Given the description of an element on the screen output the (x, y) to click on. 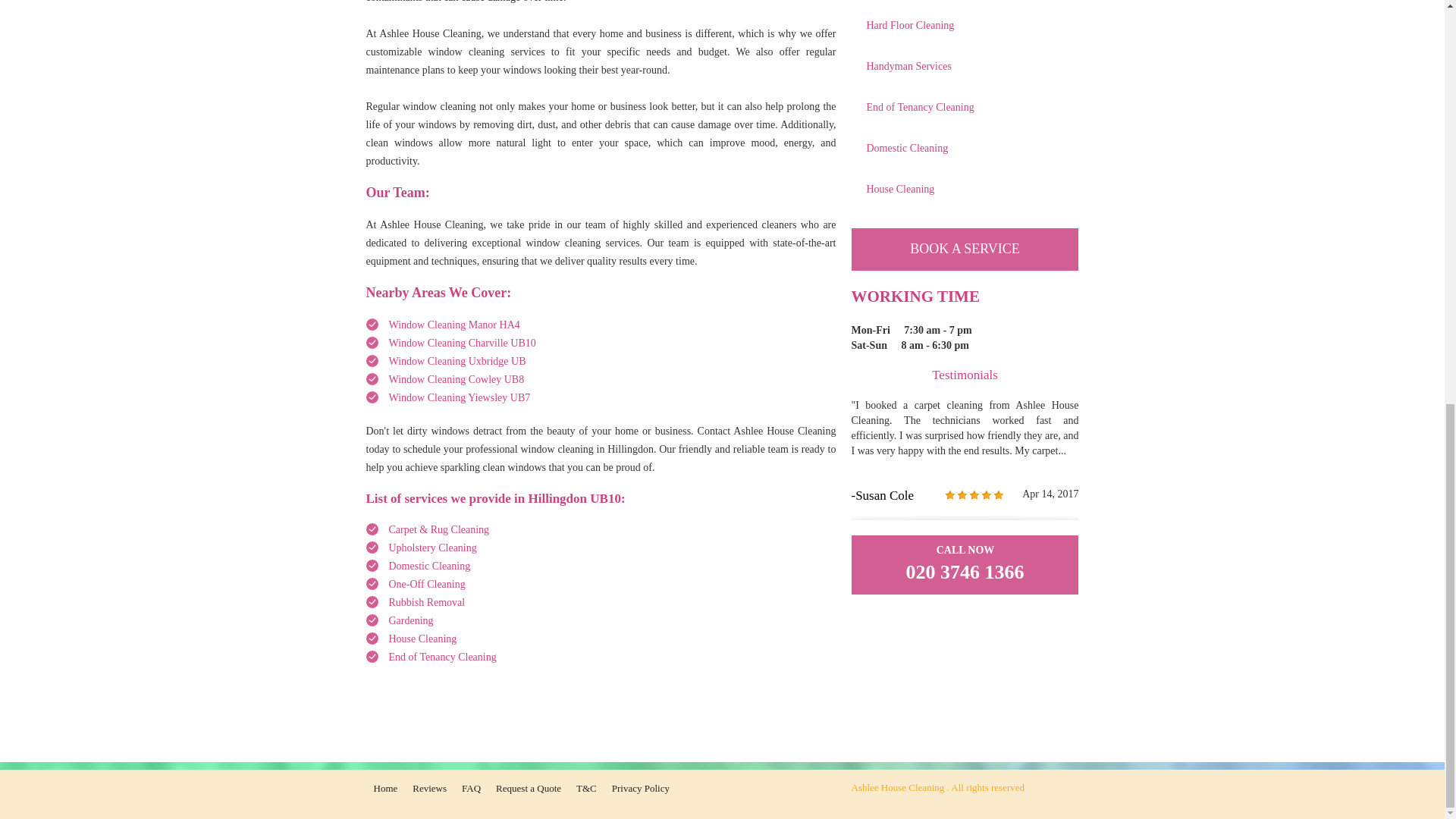
Upholstery Cleaning (432, 547)
End of Tenancy Cleaning (442, 656)
One-Off Cleaning (426, 583)
Window Cleaning Manor HA4 (453, 324)
House Cleaning (422, 638)
Rubbish Removal (426, 602)
Domestic Cleaning (429, 565)
Window Cleaning Charville UB10 (461, 342)
Gardening (410, 620)
Window Cleaning Cowley UB8 (456, 378)
Window Cleaning Yiewsley UB7 (458, 397)
Window Cleaning Uxbridge UB (456, 360)
